Given the description of an element on the screen output the (x, y) to click on. 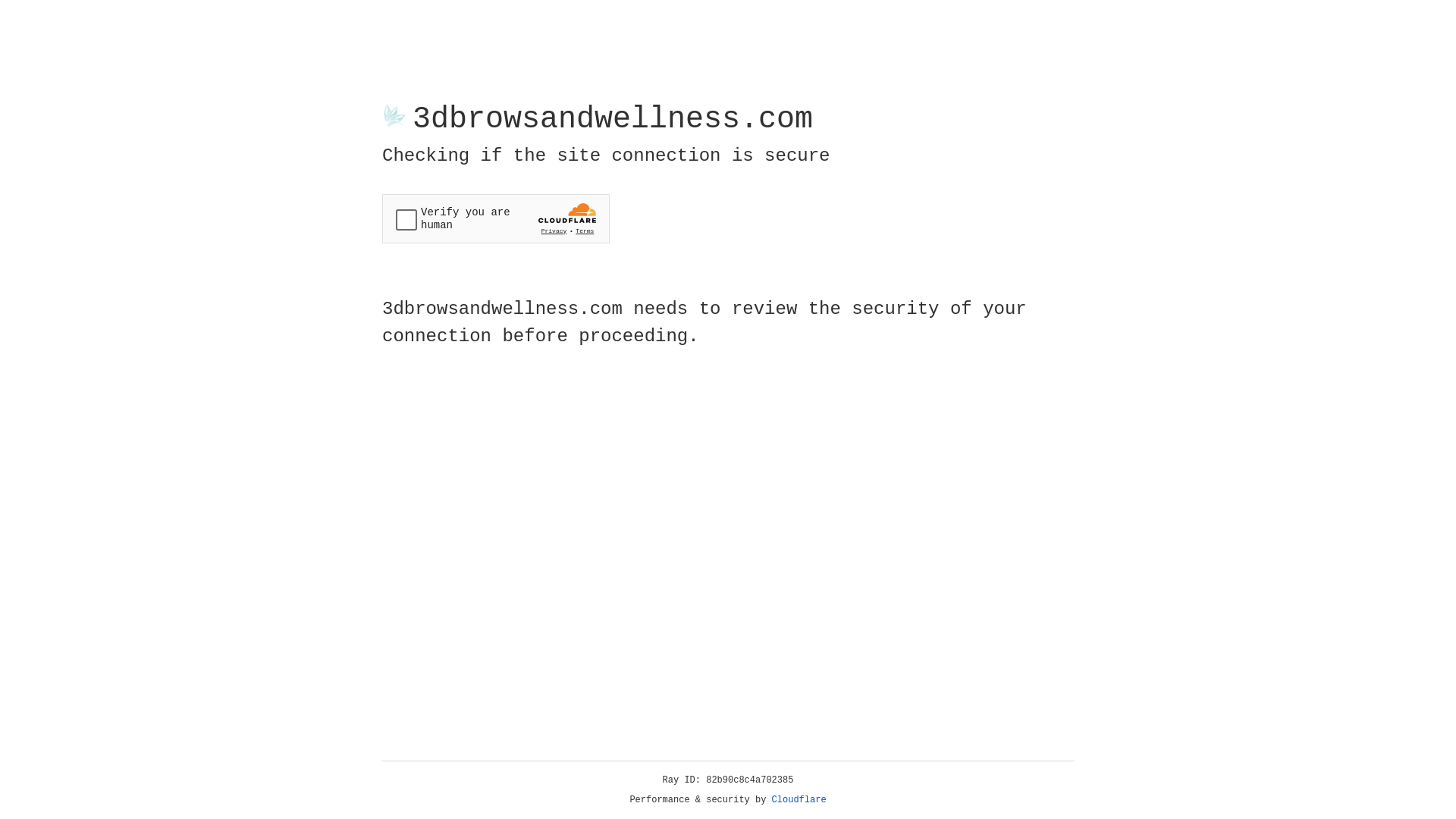
Widget containing a Cloudflare security challenge Element type: hover (495, 218)
Cloudflare Element type: text (798, 799)
